Given the description of an element on the screen output the (x, y) to click on. 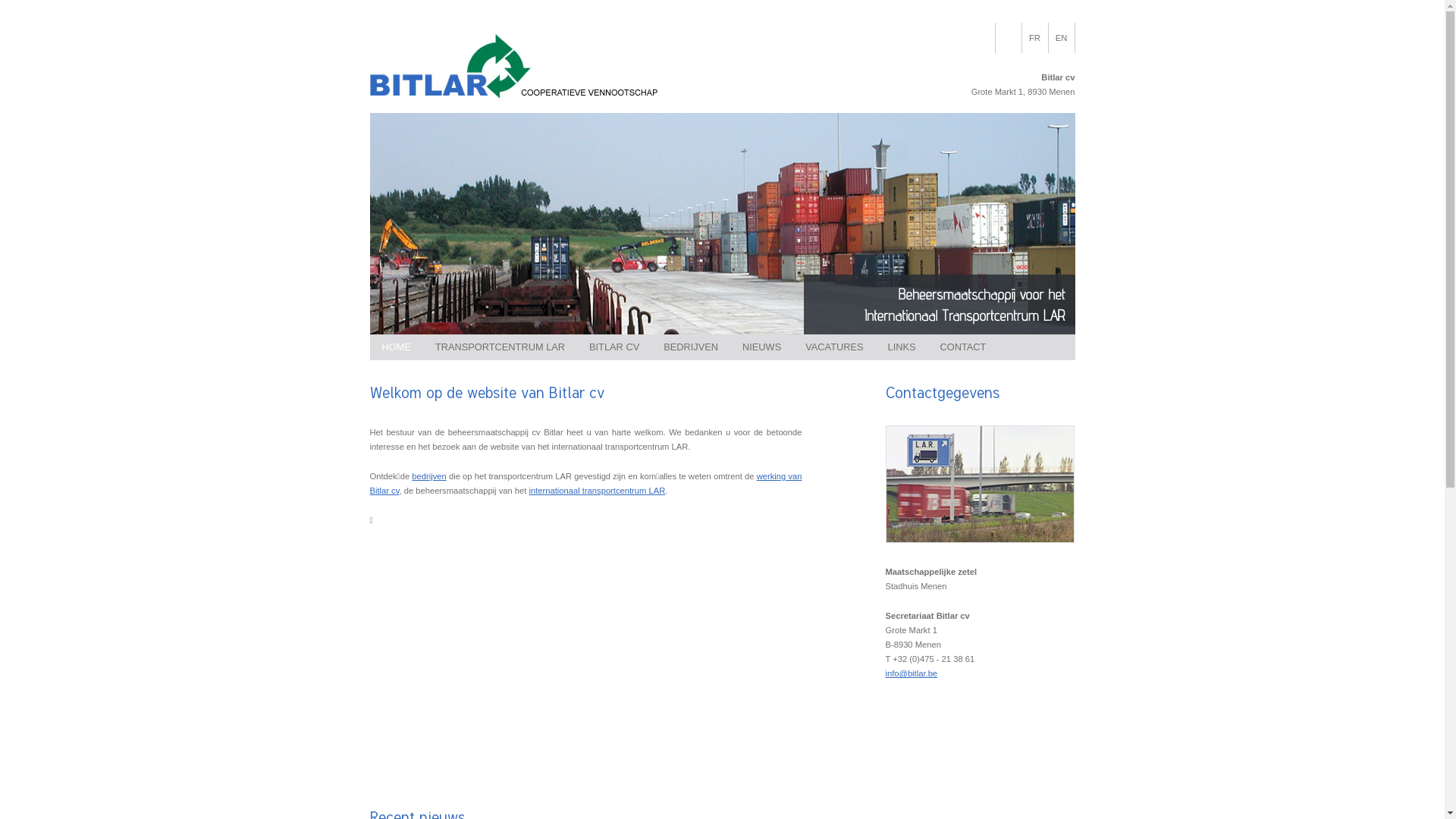
info@bitlar.be Element type: text (911, 672)
internationaal transportcentrum LAR Element type: text (597, 490)
VACATURES Element type: text (834, 347)
bedrijven Element type: text (428, 475)
BEDRIJVEN Element type: text (690, 347)
LINKS Element type: text (901, 347)
FR Element type: text (1035, 37)
TRANSPORTCENTRUM LAR Element type: text (500, 347)
werking van Bitlar cv Element type: text (586, 483)
NIEUWS Element type: text (761, 347)
CONTACT Element type: text (963, 347)
BITLAR CV Element type: text (614, 347)
EN Element type: text (1060, 37)
homepage Bitlar cv Element type: hover (514, 105)
HOME Element type: text (396, 347)
NL Element type: text (1007, 37)
